Given the description of an element on the screen output the (x, y) to click on. 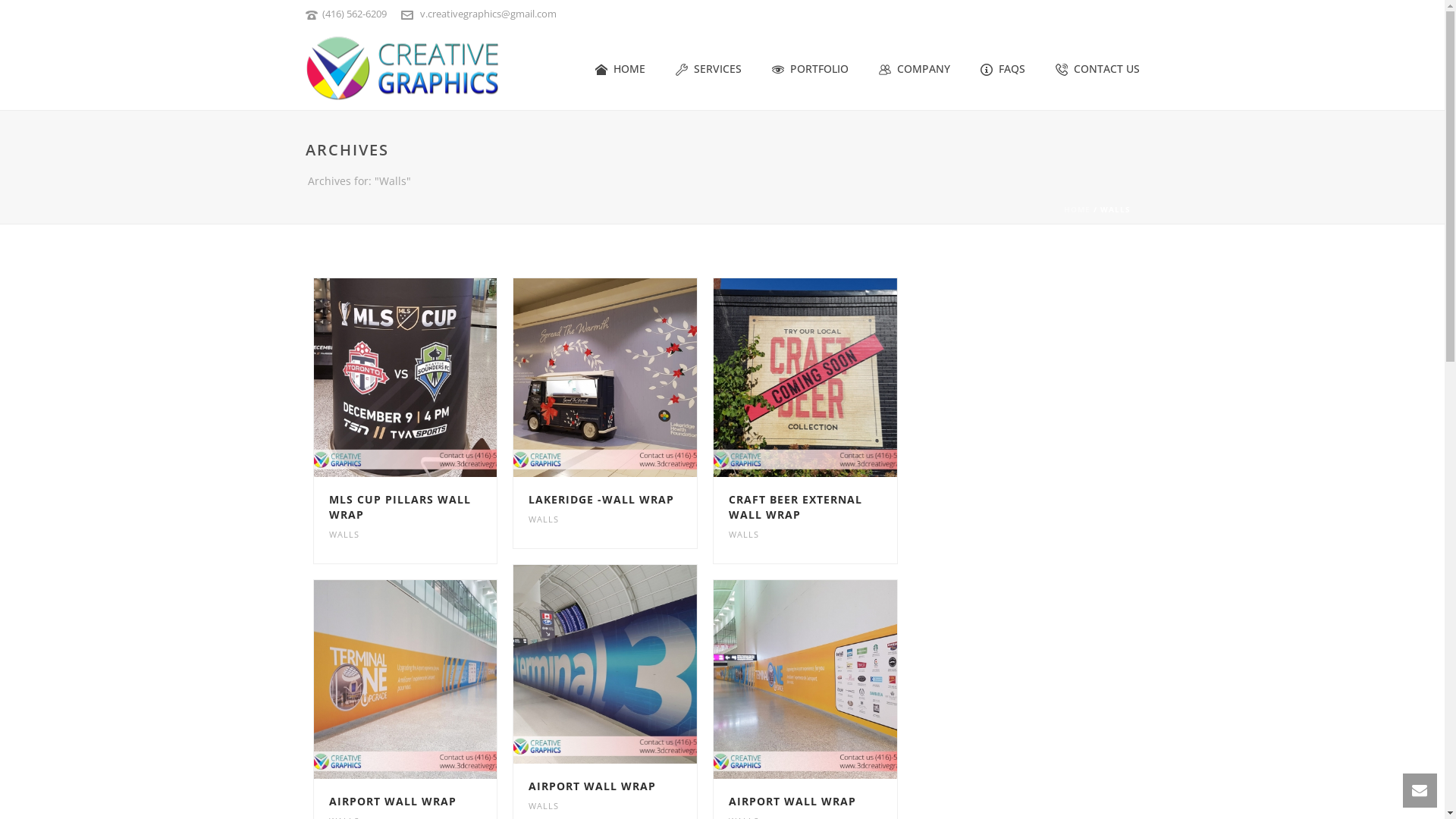
MLS CUP PILLARS WALL WRAP Element type: text (399, 506)
Craft Beer External Wall Wrap Element type: hover (805, 377)
AIRPORT WALL WRAP Element type: text (792, 800)
HOME Element type: text (1076, 208)
COMPANY Element type: text (913, 69)
PORTFOLIO Element type: text (809, 69)
Airport Wall Wrap Element type: hover (604, 663)
Lakeridge -Wall Wrap Element type: hover (604, 377)
SERVICES Element type: text (707, 69)
CONTACT US Element type: text (1097, 69)
Airport Wall Wrap Element type: hover (805, 679)
AIRPORT WALL WRAP Element type: text (392, 800)
WALLS Element type: text (543, 805)
FAQS Element type: text (1001, 69)
v.creativegraphics@gmail.com Element type: text (488, 13)
LAKERIDGE -WALL WRAP Element type: text (601, 499)
MLS Cup Pillars Wall Wrap Element type: hover (405, 377)
AIRPORT WALL WRAP Element type: text (591, 785)
WALLS Element type: text (344, 533)
CRAFT BEER EXTERNAL WALL WRAP Element type: text (795, 506)
WALLS Element type: text (743, 533)
HOME Element type: text (619, 69)
Airport Wall Wrap Element type: hover (405, 679)
(416) 562-6209 Element type: text (353, 13)
Vehicle Wrap Installations in Greater Toronto Area Element type: hover (401, 68)
WALLS Element type: text (543, 518)
